Given the description of an element on the screen output the (x, y) to click on. 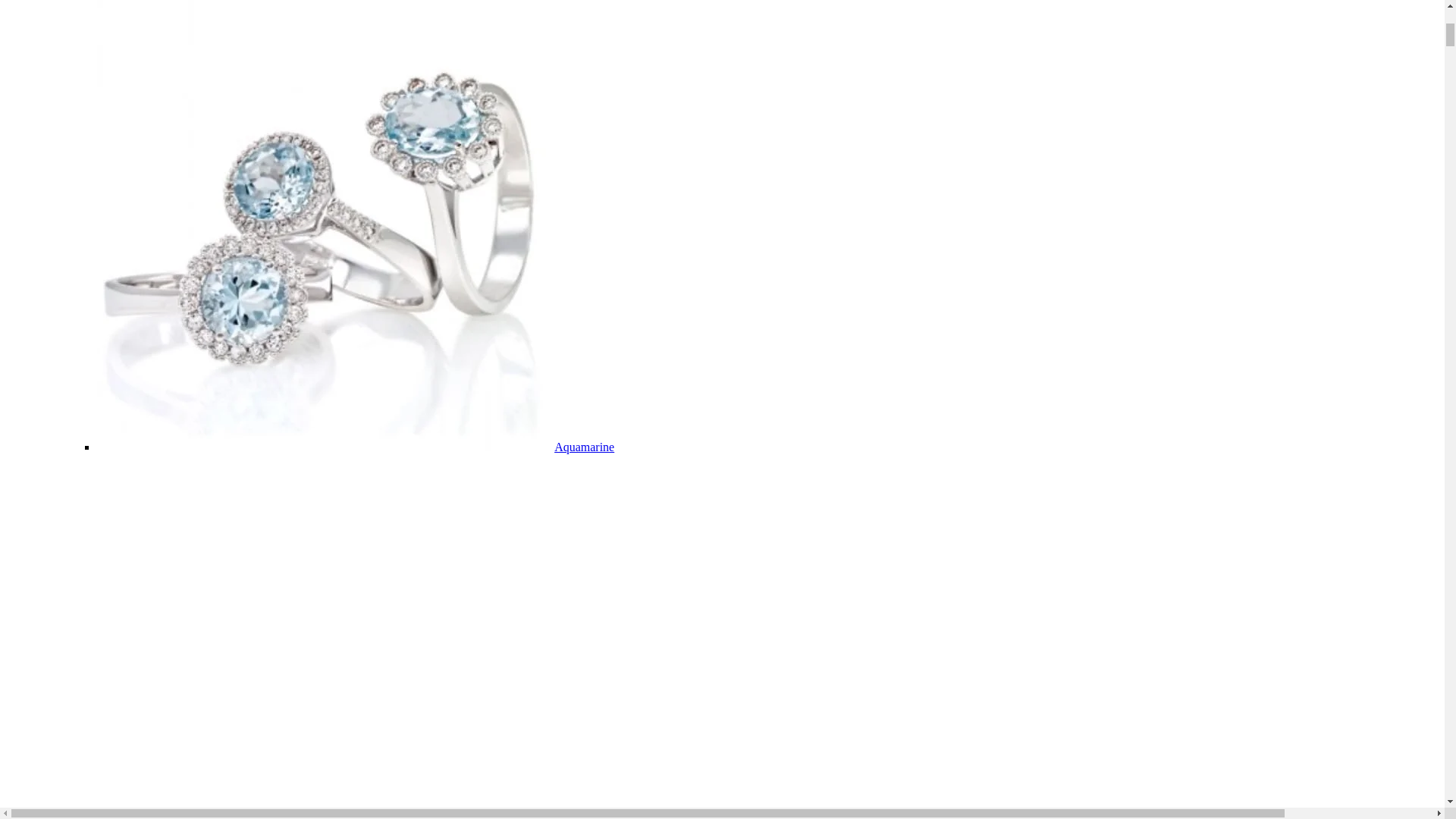
Aquamarine (584, 446)
